Given the description of an element on the screen output the (x, y) to click on. 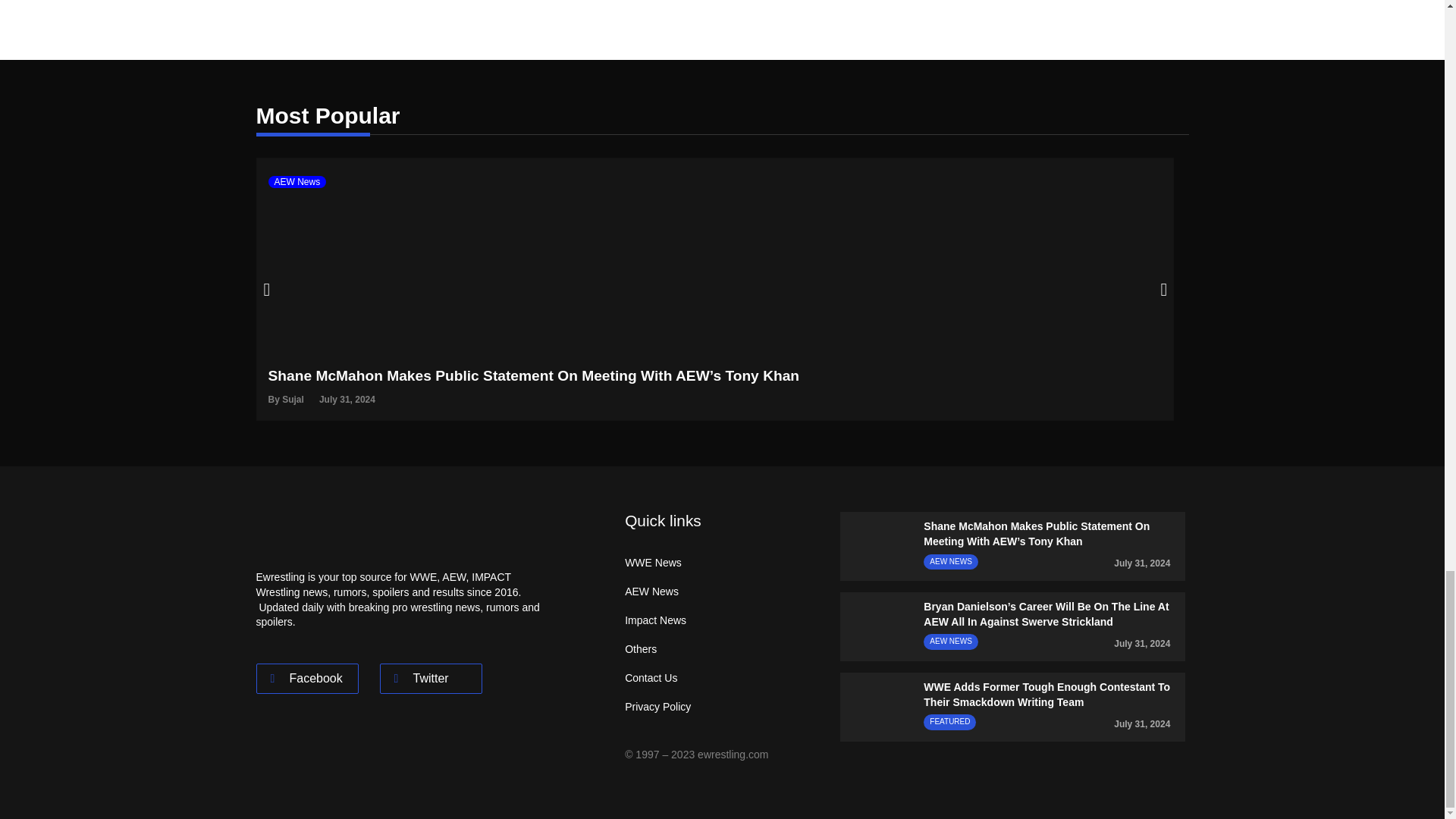
Posts by Sujal (292, 398)
